Given the description of an element on the screen output the (x, y) to click on. 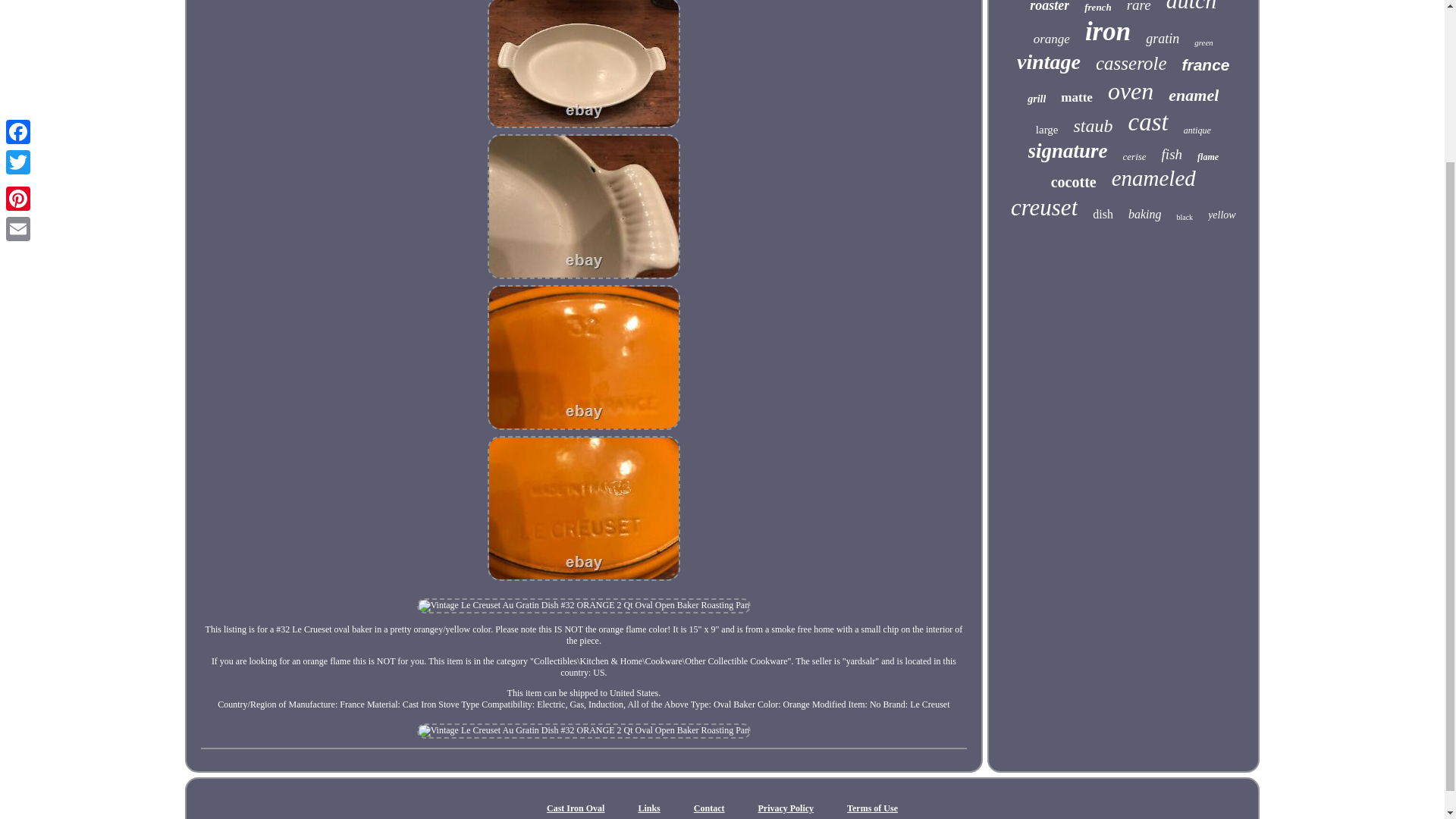
rare (1138, 6)
Pinterest (17, 8)
Email (17, 31)
grill (1036, 99)
france (1204, 65)
matte (1077, 97)
antique (1197, 130)
orange (1051, 38)
roaster (1048, 6)
cast (1148, 122)
